Given the description of an element on the screen output the (x, y) to click on. 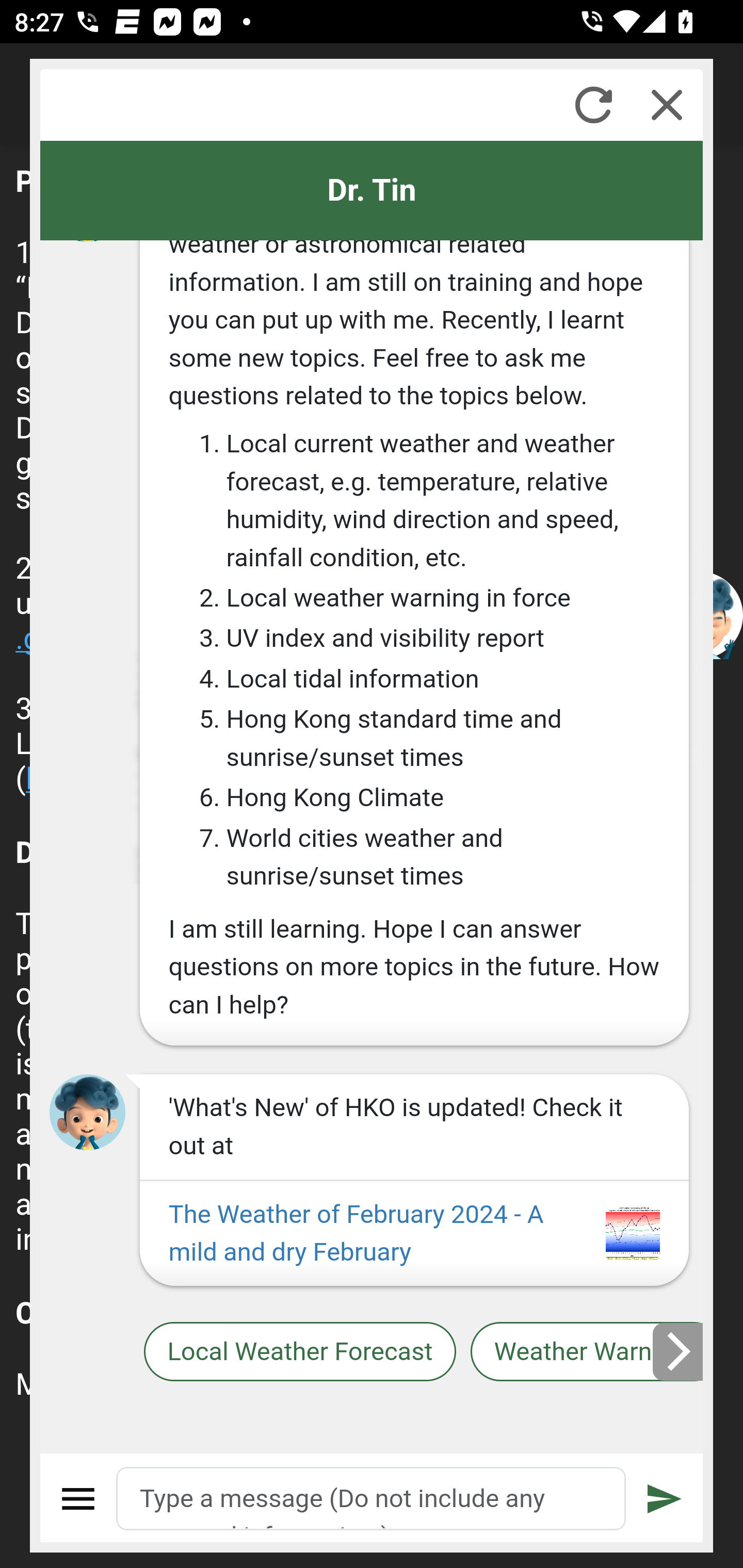
Refresh (593, 104)
Close (666, 104)
Local Weather Forecast (299, 1351)
Weather Warnings (587, 1351)
Next slide (678, 1351)
Menu (78, 1498)
Submit (665, 1498)
